Given the description of an element on the screen output the (x, y) to click on. 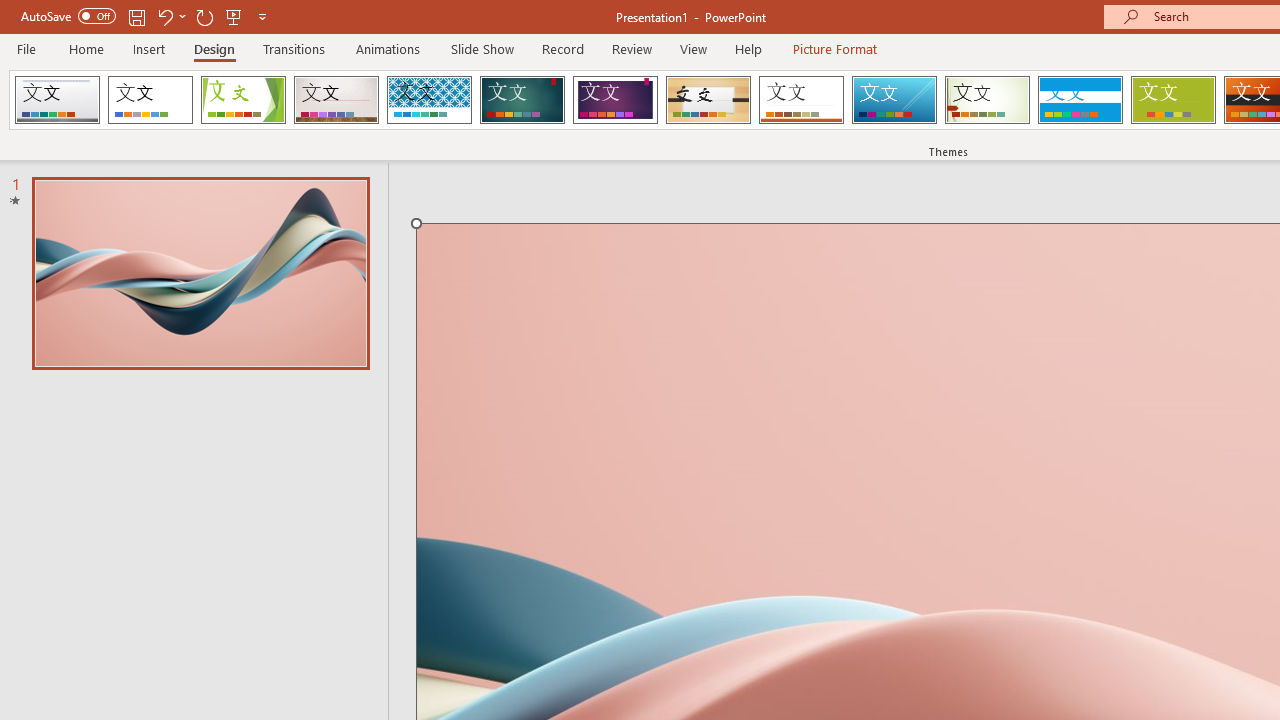
AfterglowVTI (57, 100)
Basis (1172, 100)
Integral (429, 100)
